Given the description of an element on the screen output the (x, y) to click on. 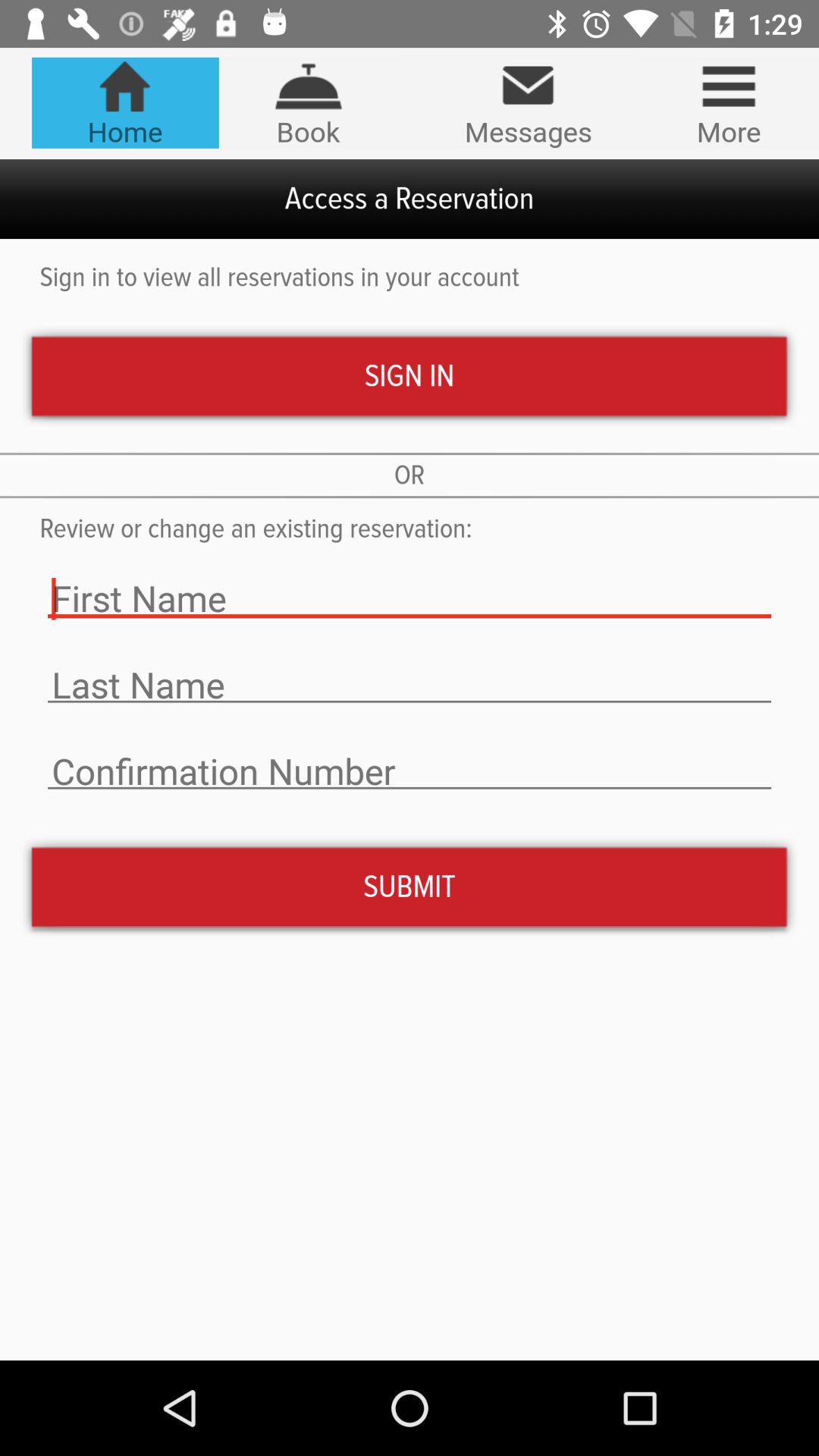
choose item to the left of messages icon (308, 102)
